Given the description of an element on the screen output the (x, y) to click on. 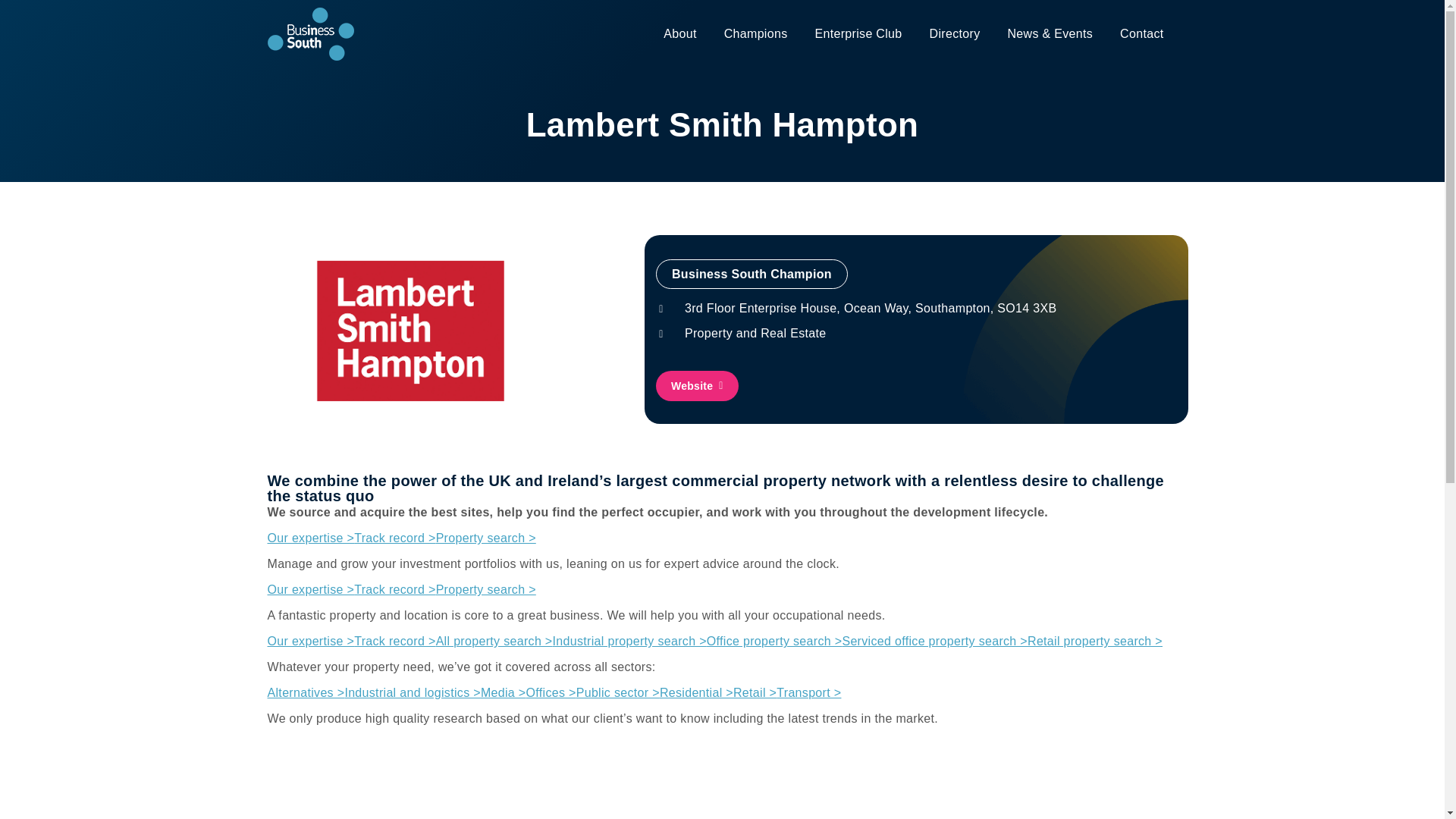
Directory (955, 33)
About (679, 33)
Enterprise Club (857, 33)
Champions (755, 33)
Contact (1141, 33)
Lambert Smith Hampton CHAMPION (410, 330)
